Given the description of an element on the screen output the (x, y) to click on. 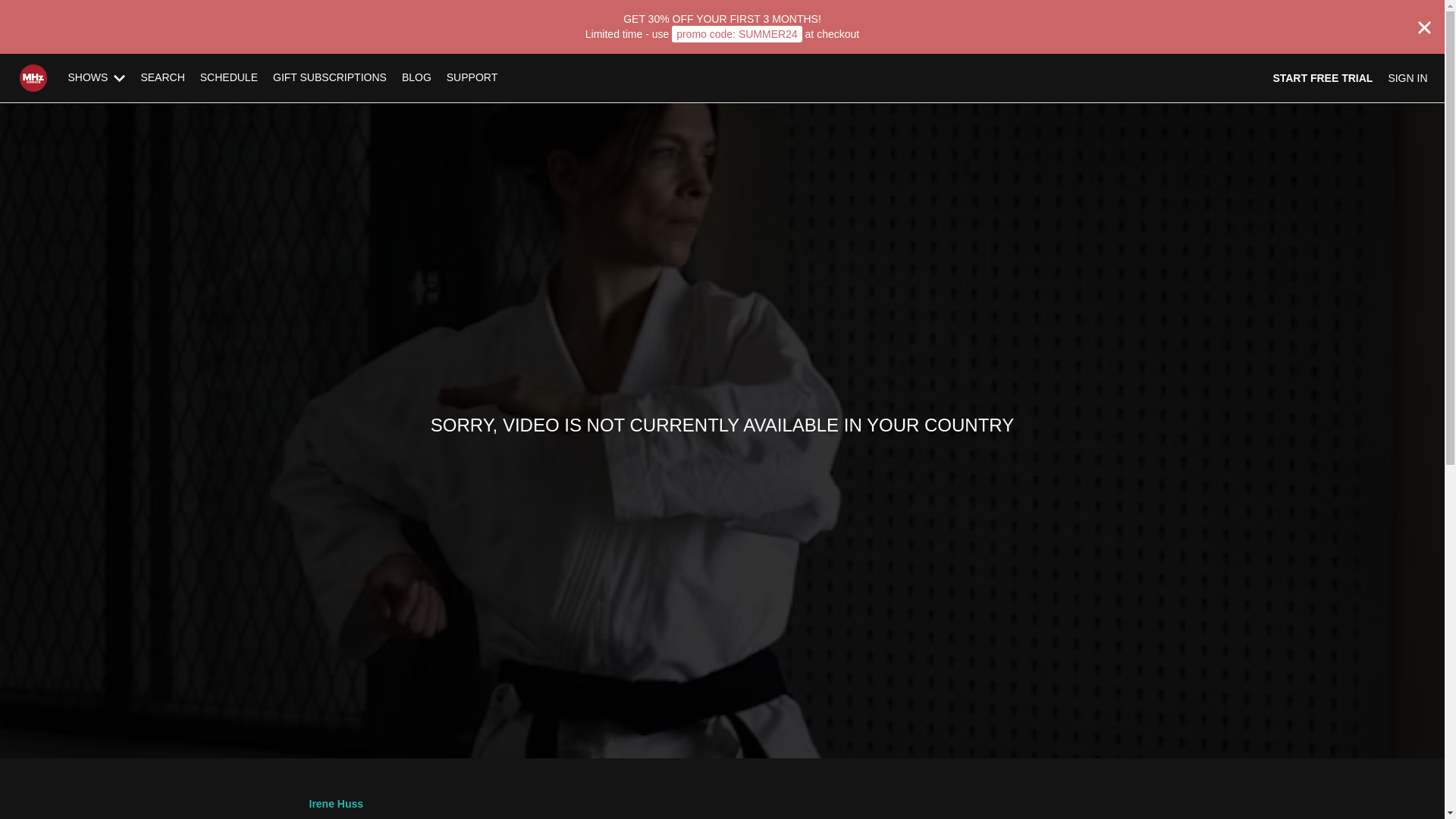
Skip to main content (48, 7)
SEARCH (162, 77)
SHOWS (97, 77)
GIFT SUBSCRIPTIONS (329, 77)
BLOG (416, 77)
Irene Huss (336, 803)
SIGN IN (1406, 78)
START FREE TRIAL (1322, 78)
SUPPORT (472, 77)
SCHEDULE (228, 77)
